Given the description of an element on the screen output the (x, y) to click on. 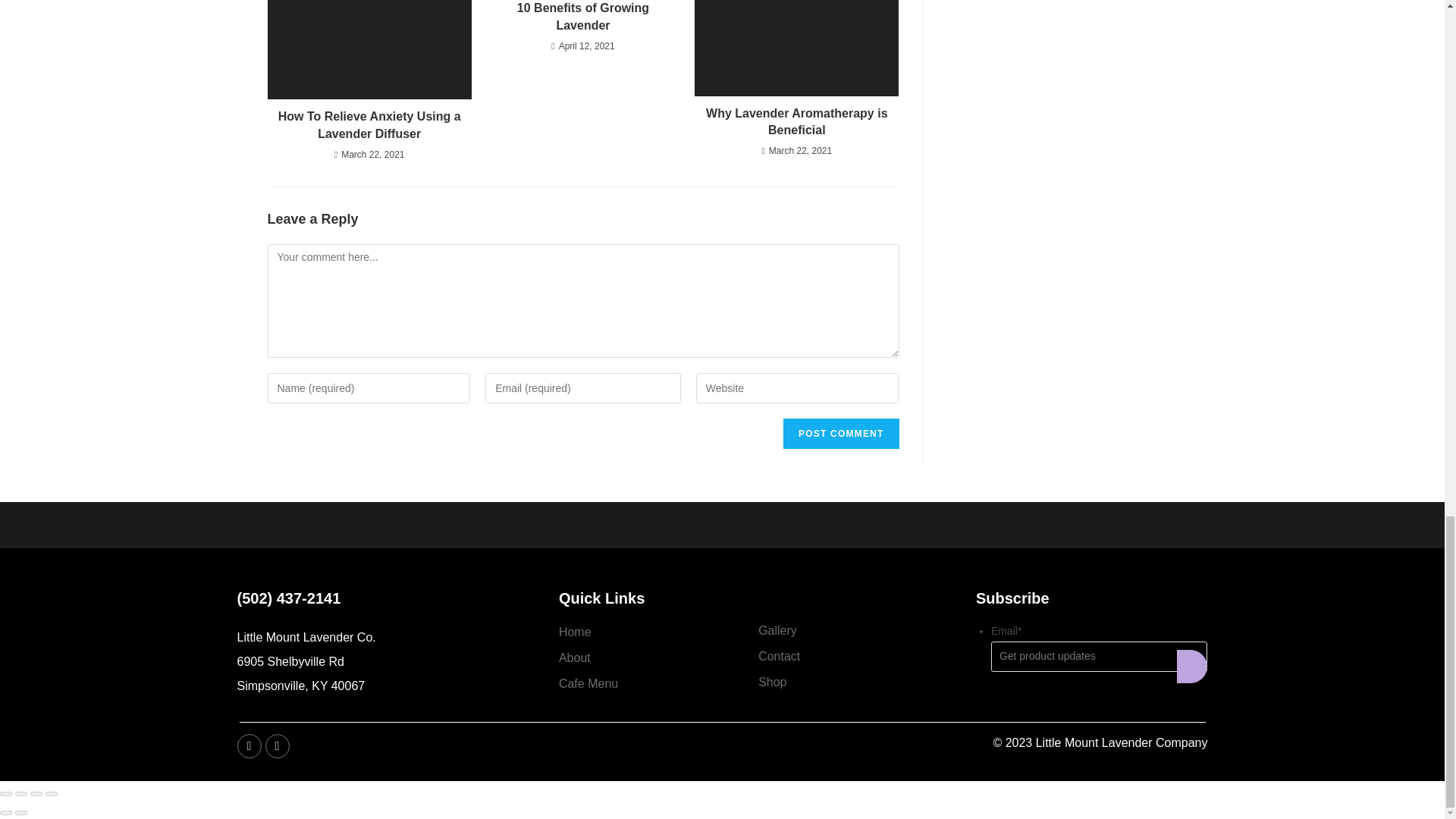
10 Benefits of Growing Lavender (582, 17)
Submit (1191, 666)
Post Comment (840, 433)
How To Relieve Anxiety Using a Lavender Diffuser (368, 125)
Why Lavender Aromatherapy is Beneficial (796, 122)
Post Comment (840, 433)
